Given the description of an element on the screen output the (x, y) to click on. 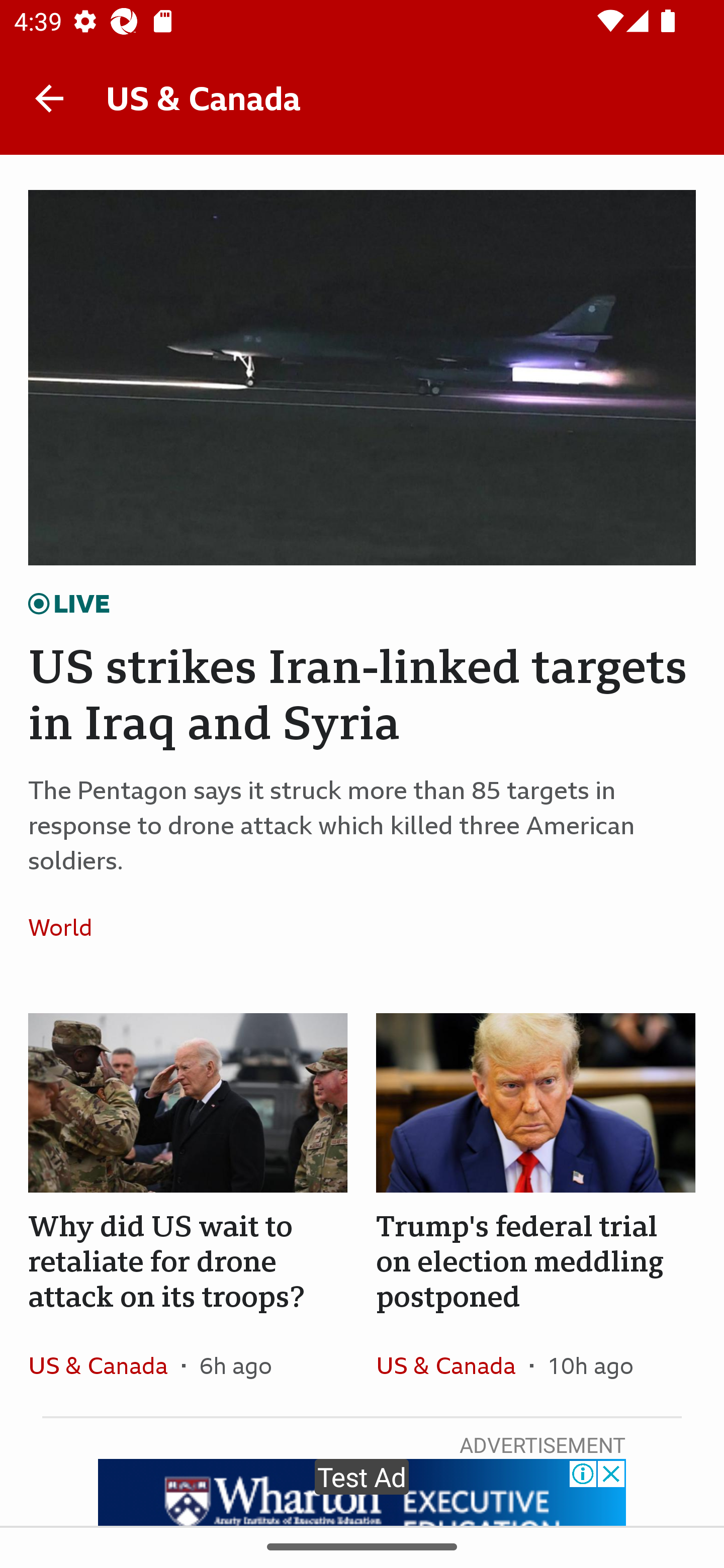
Back (49, 97)
World In the section World (67, 927)
US & Canada In the section US & Canada (104, 1364)
US & Canada In the section US & Canada (452, 1364)
Advertisement (361, 1491)
